Given the description of an element on the screen output the (x, y) to click on. 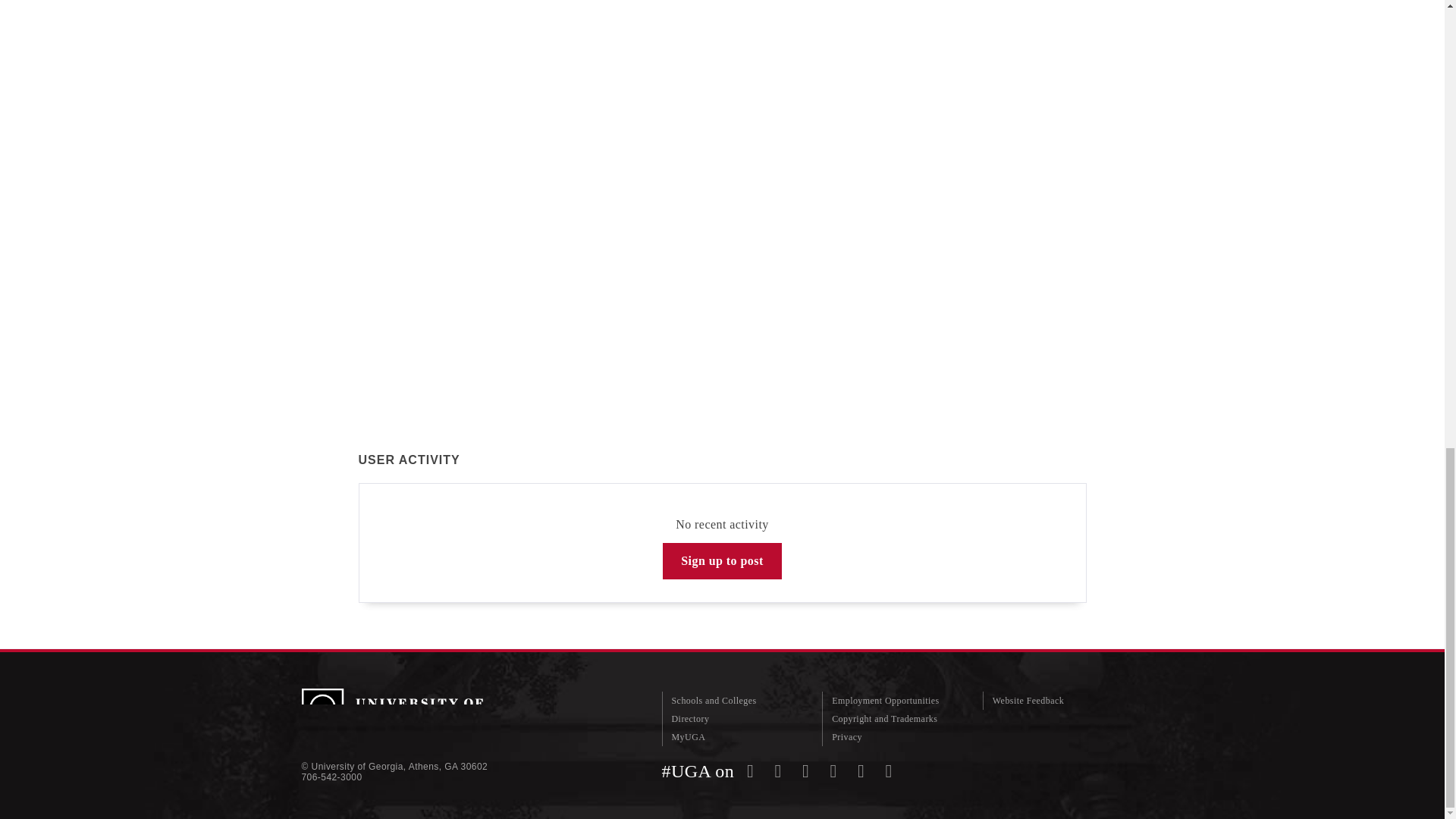
Instagram (805, 771)
Twitter (778, 771)
Snapchat (833, 771)
Facebook (750, 771)
LinkedIn (888, 771)
YouTube (861, 771)
